Given the description of an element on the screen output the (x, y) to click on. 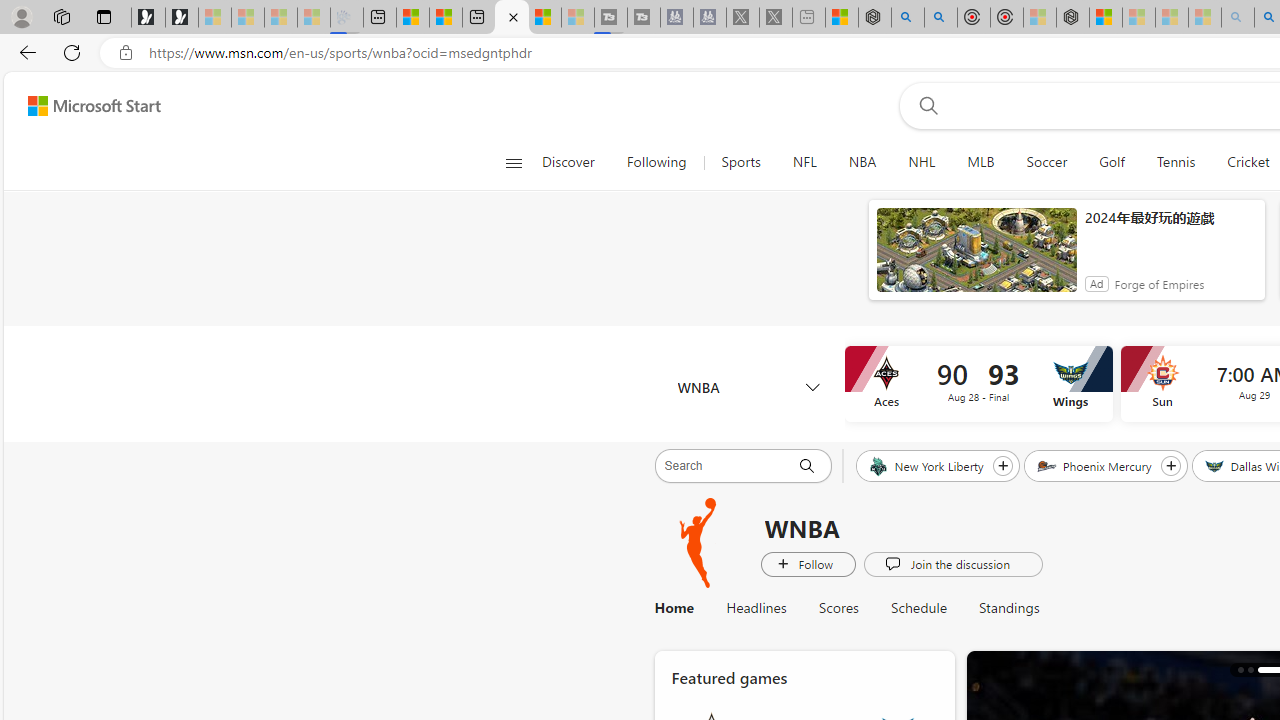
Sports (740, 162)
Web search (924, 105)
Follow New York Liberty (1002, 465)
Scores (838, 607)
Phoenix Mercury (1095, 465)
Standings (1009, 607)
Home (674, 607)
